Given the description of an element on the screen output the (x, y) to click on. 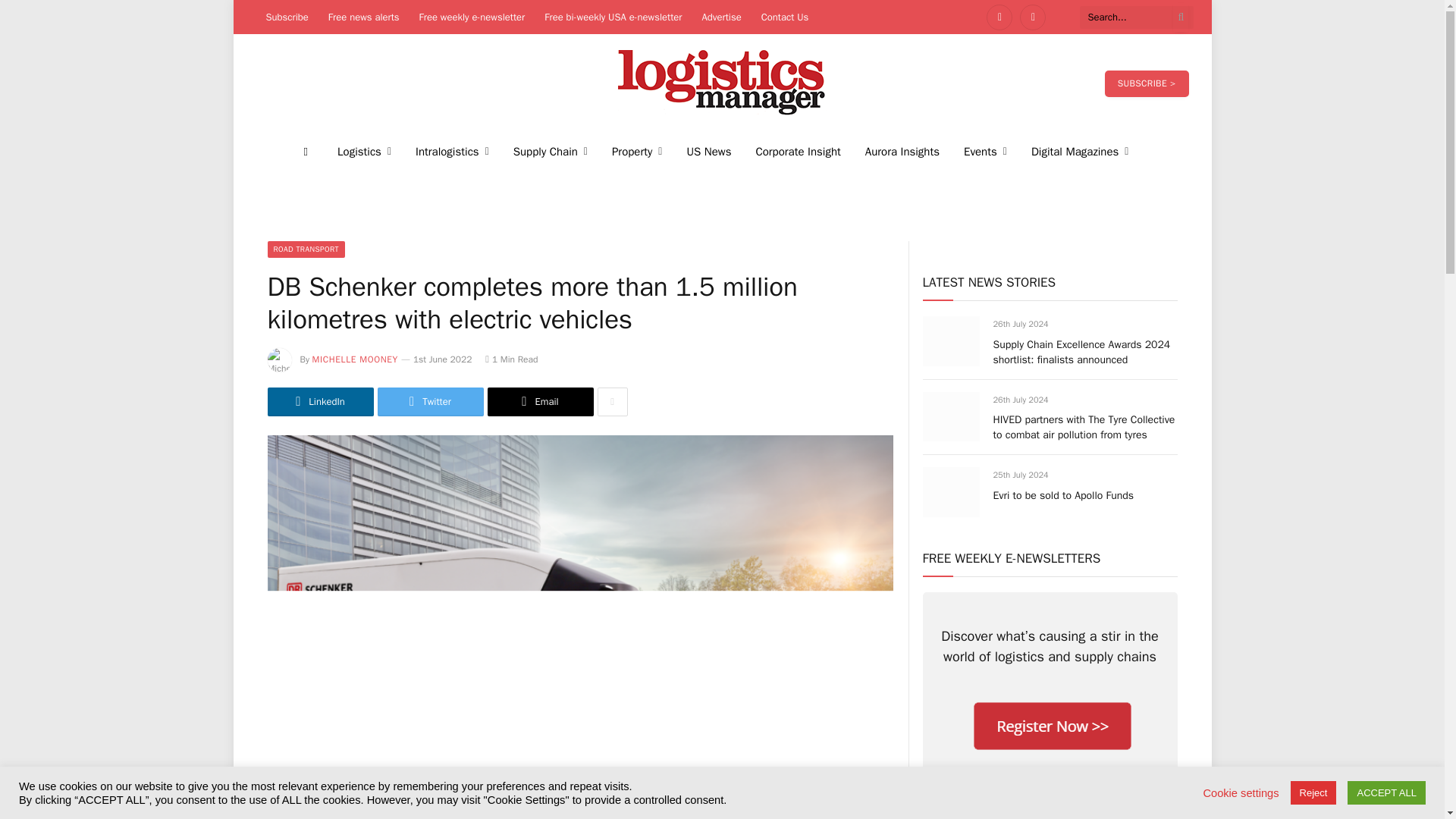
Posts by Michelle Mooney (355, 358)
Logistics Manager (722, 83)
Share on LinkedIn (319, 401)
Show More Social Sharing (611, 401)
Share via Email (539, 401)
